Given the description of an element on the screen output the (x, y) to click on. 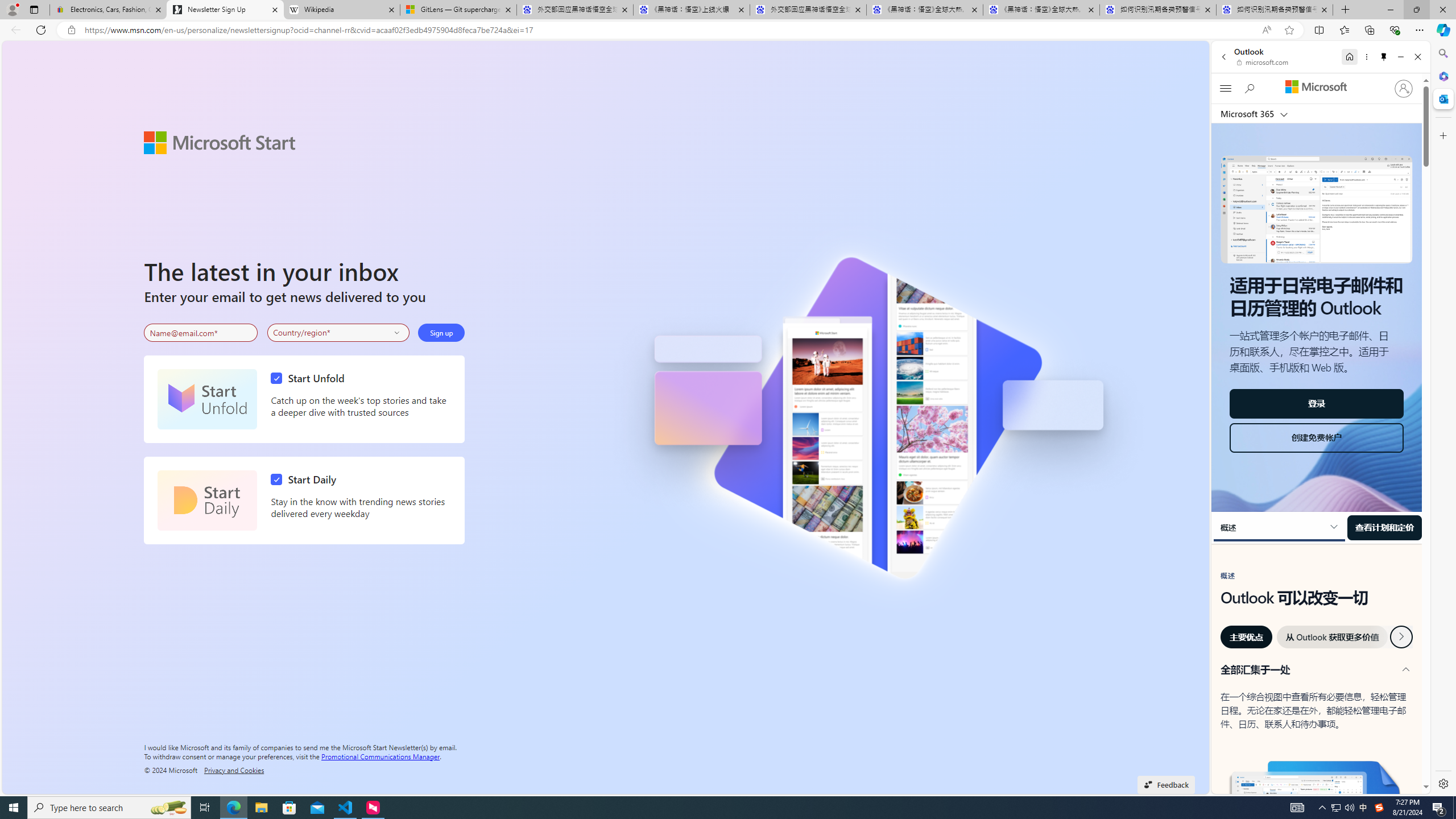
Privacy and Cookies (233, 769)
Split screen (1318, 29)
Refresh (40, 29)
Microsoft Start (219, 142)
Promotional Communications Manager (380, 755)
microsoft.com (1263, 61)
Add this page to favorites (Ctrl+D) (1289, 29)
Start Unfold (207, 399)
Browser essentials (1394, 29)
Minimize (1401, 56)
Search (1442, 53)
View site information (70, 29)
